Given the description of an element on the screen output the (x, y) to click on. 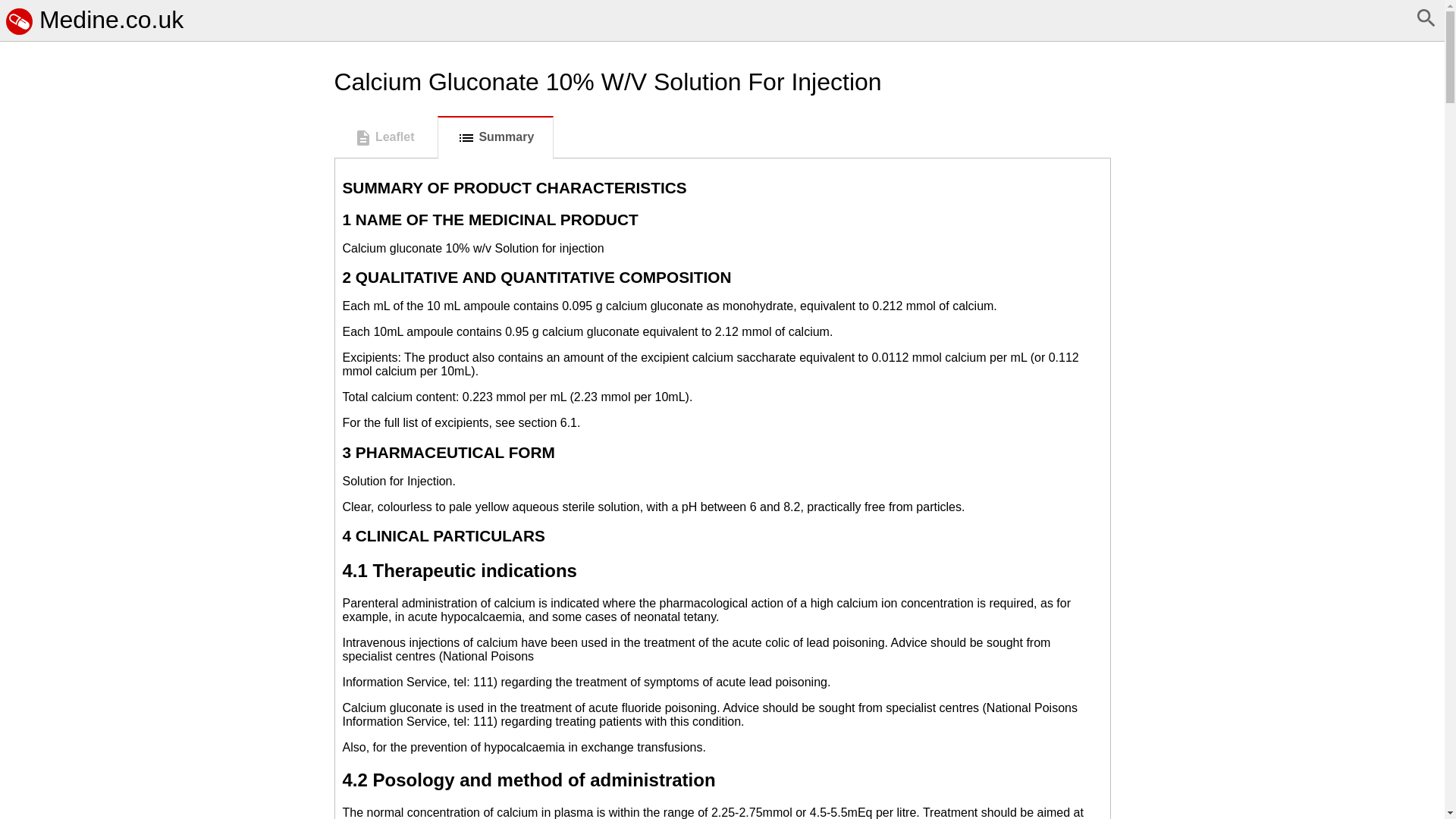
Medine.co.uk (94, 19)
Summary (495, 137)
Leaflet (383, 137)
